Given the description of an element on the screen output the (x, y) to click on. 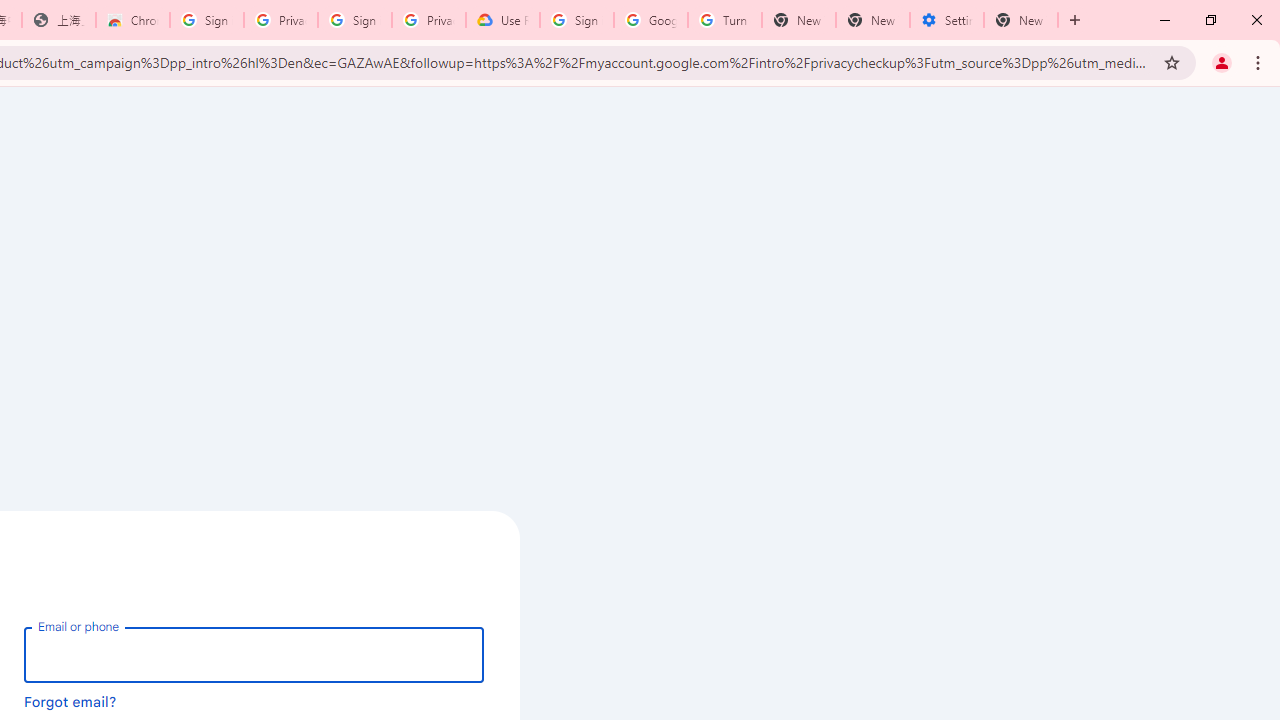
Sign in - Google Accounts (354, 20)
Turn cookies on or off - Computer - Google Account Help (724, 20)
Google Account Help (651, 20)
Email or phone (253, 654)
